Given the description of an element on the screen output the (x, y) to click on. 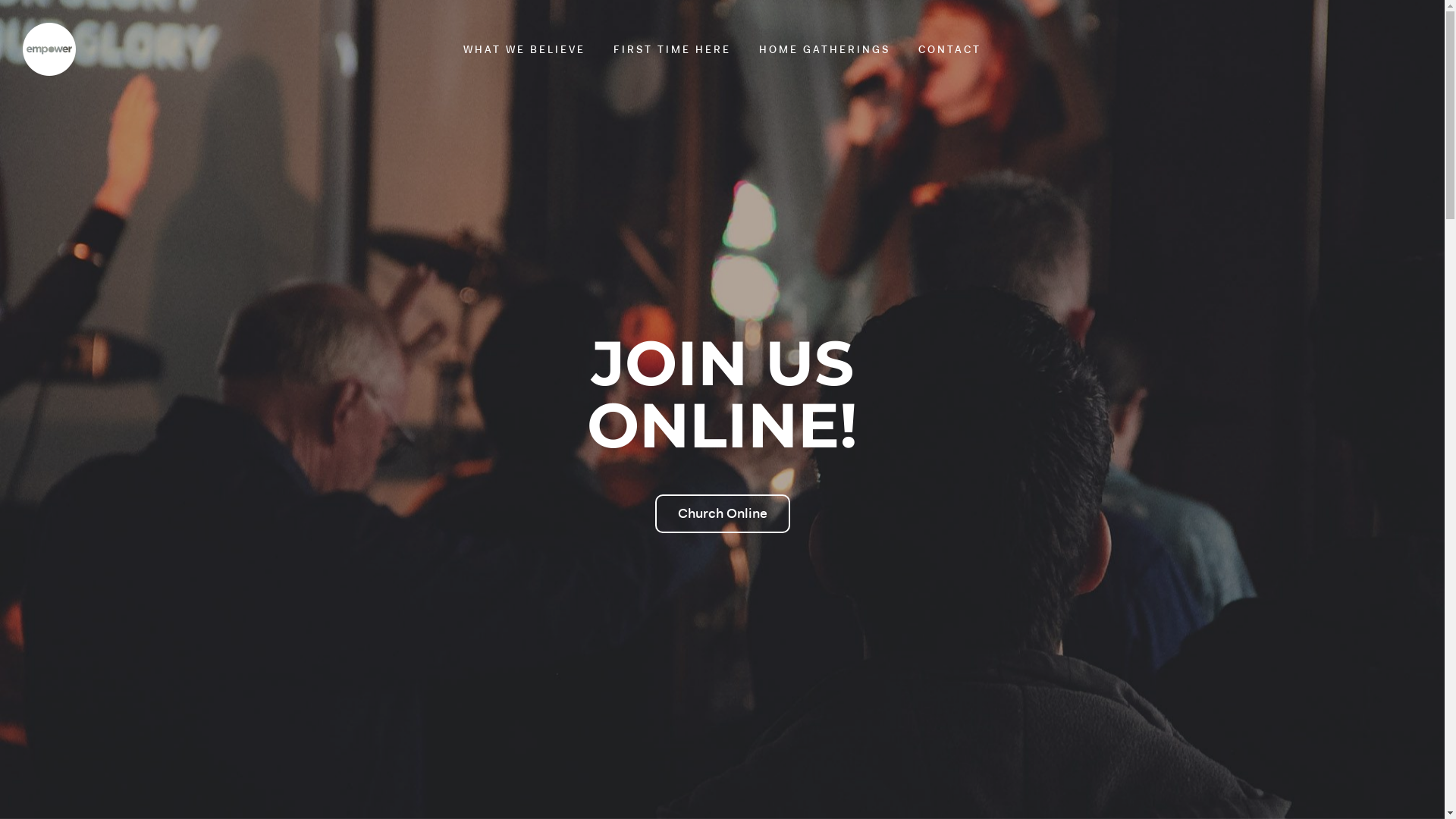
Church Online Element type: text (722, 513)
WHAT WE BELIEVE Element type: text (523, 49)
HOME GATHERINGS Element type: text (824, 49)
FIRST TIME HERE Element type: text (672, 49)
CONTACT Element type: text (949, 49)
